Given the description of an element on the screen output the (x, y) to click on. 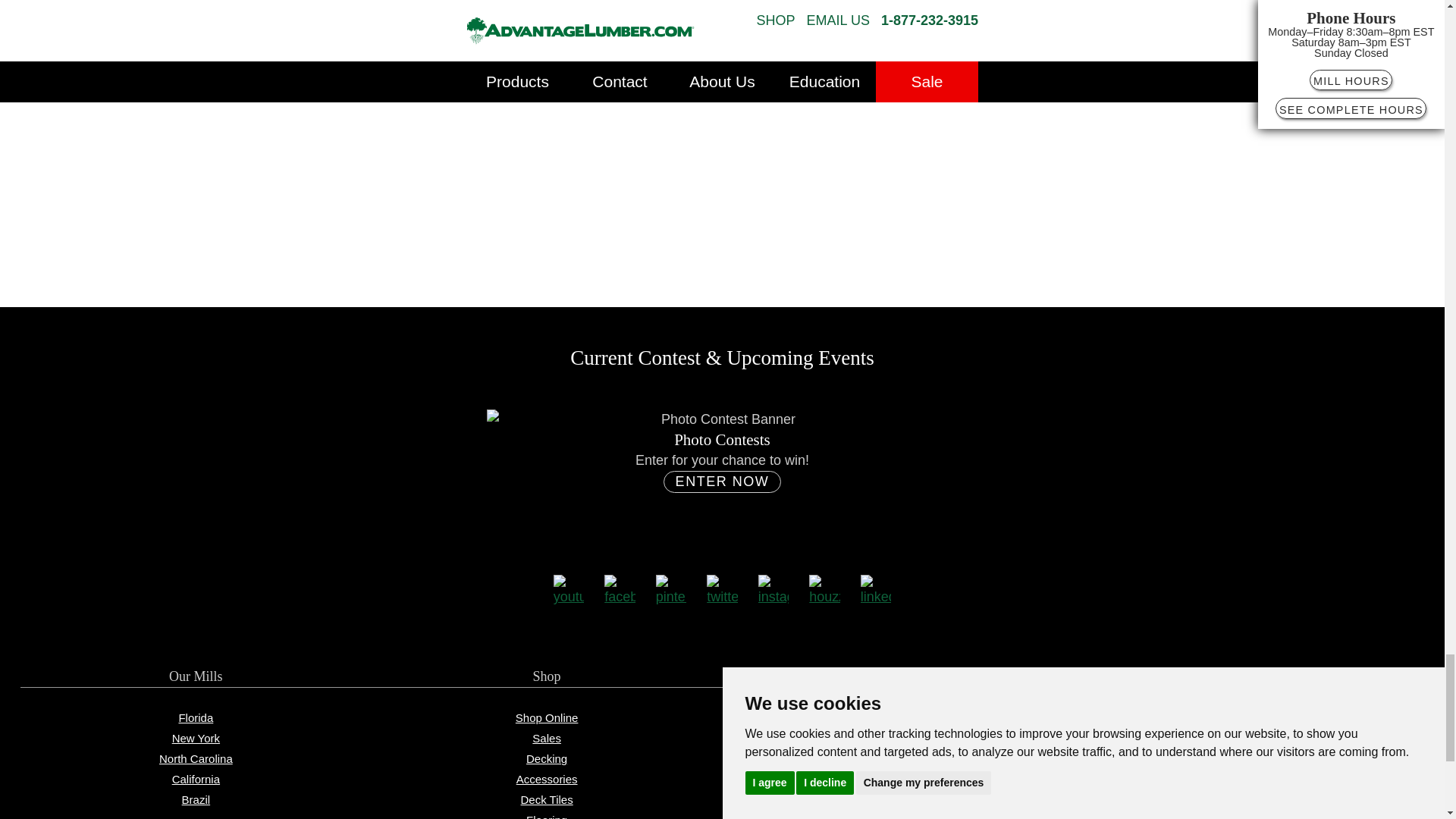
Like Us on Facebook (619, 590)
Get Great Ideas on Pinterest (671, 590)
Get Inspired on Houzz (824, 590)
Link with Us on LinkedIn (875, 590)
Watch Videos on YouTube (569, 590)
Follow Us on Twitter (722, 590)
Newsletter Sign Up (722, 181)
